Given the description of an element on the screen output the (x, y) to click on. 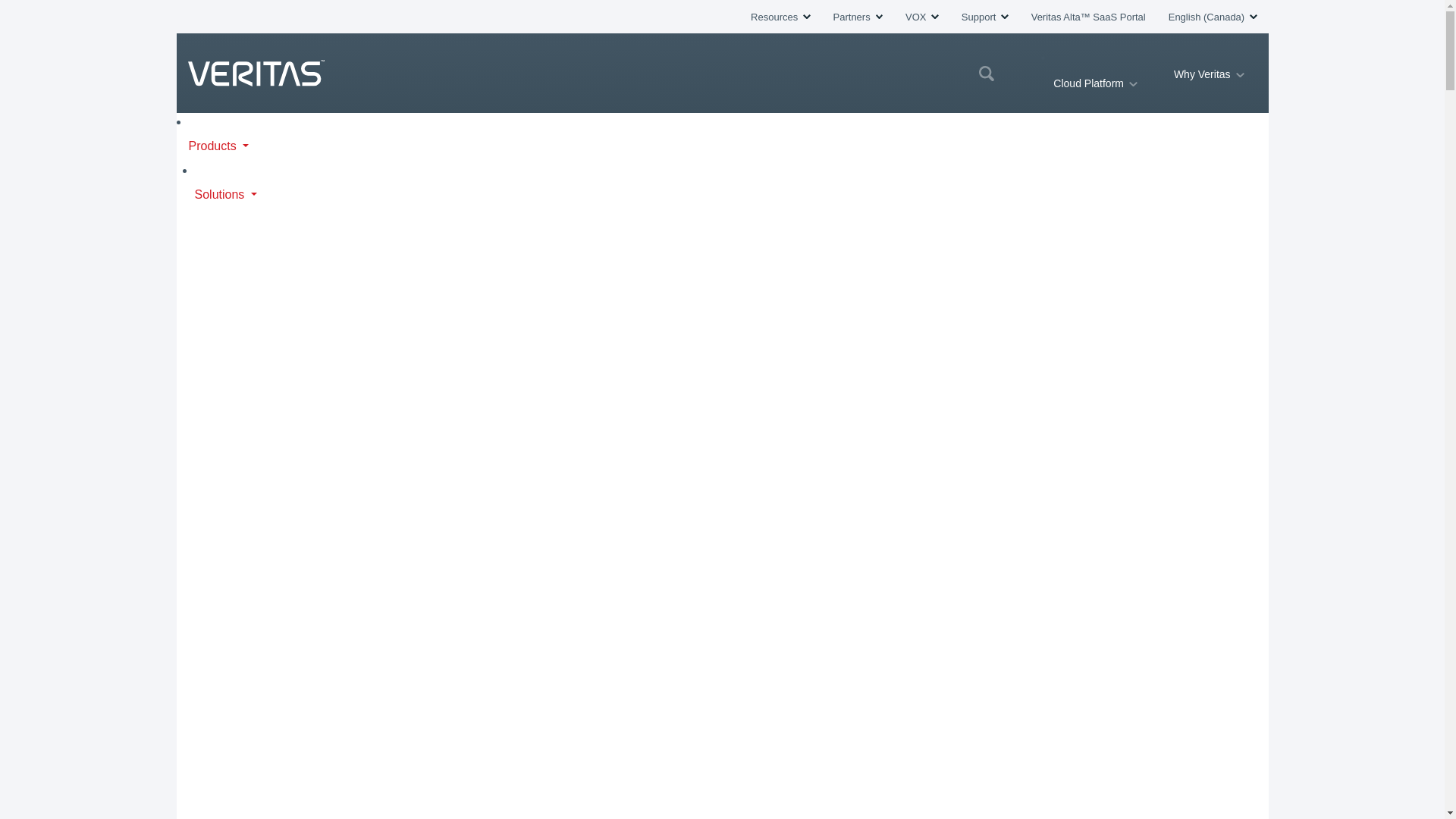
Support (984, 16)
Partners (857, 16)
VOX (922, 16)
Resources (780, 16)
